Given the description of an element on the screen output the (x, y) to click on. 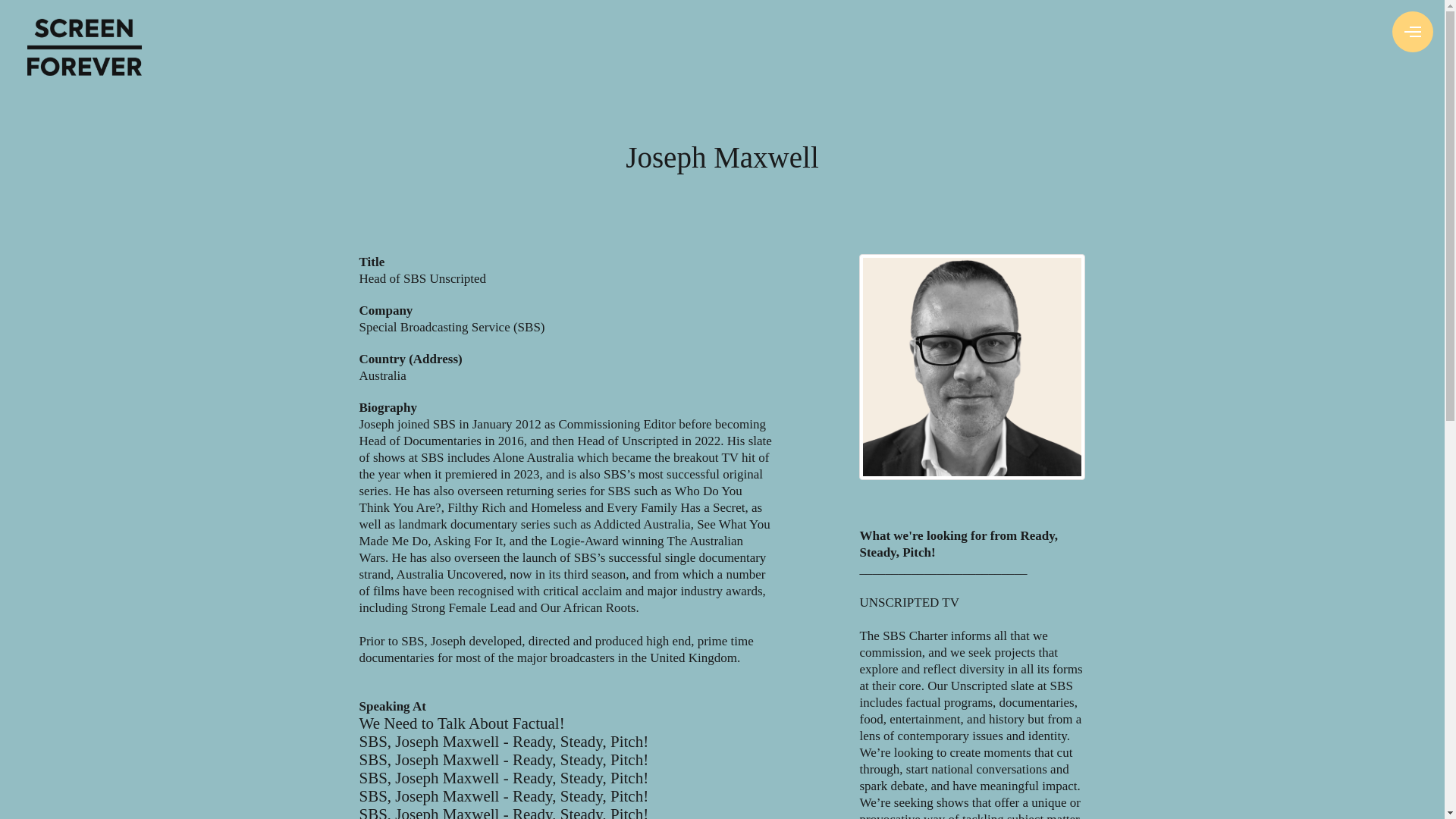
Session Details (461, 723)
Session Details (504, 760)
Session Details (504, 778)
Session Details (504, 796)
SBS, Joseph Maxwell - Ready, Steady, Pitch! (504, 741)
SBS, Joseph Maxwell - Ready, Steady, Pitch! (504, 760)
Menu (1411, 31)
Session Details (504, 812)
SBS, Joseph Maxwell - Ready, Steady, Pitch! (504, 778)
Session Details (504, 741)
We Need to Talk About Factual! (461, 723)
